Given the description of an element on the screen output the (x, y) to click on. 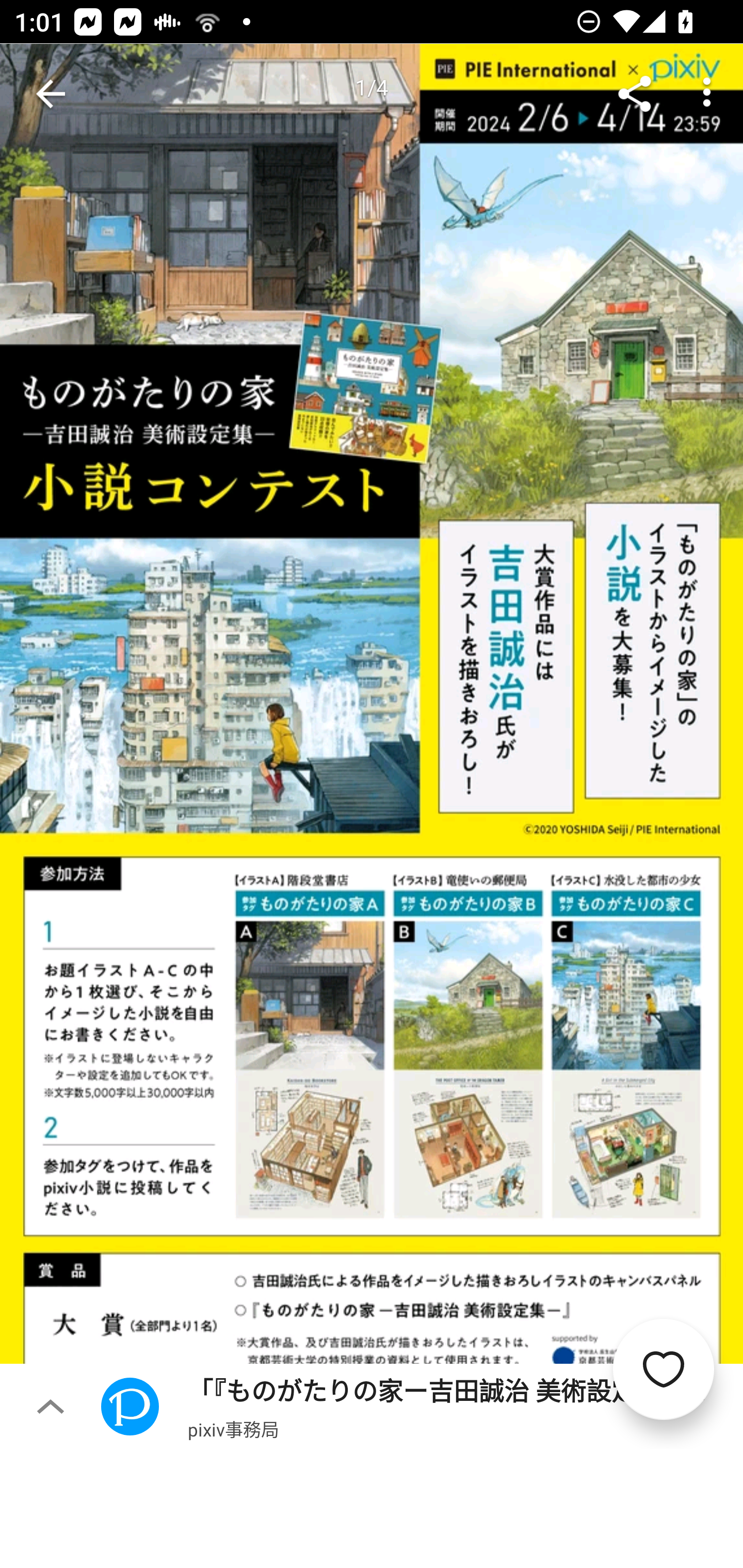
Share (634, 93)
More options (706, 93)
「『ものがたりの家ー吉田誠治 美術設定集ー』小説コンテスト」開催 pixiv事務局 (422, 1406)
pixiv事務局 (233, 1428)
